Given the description of an element on the screen output the (x, y) to click on. 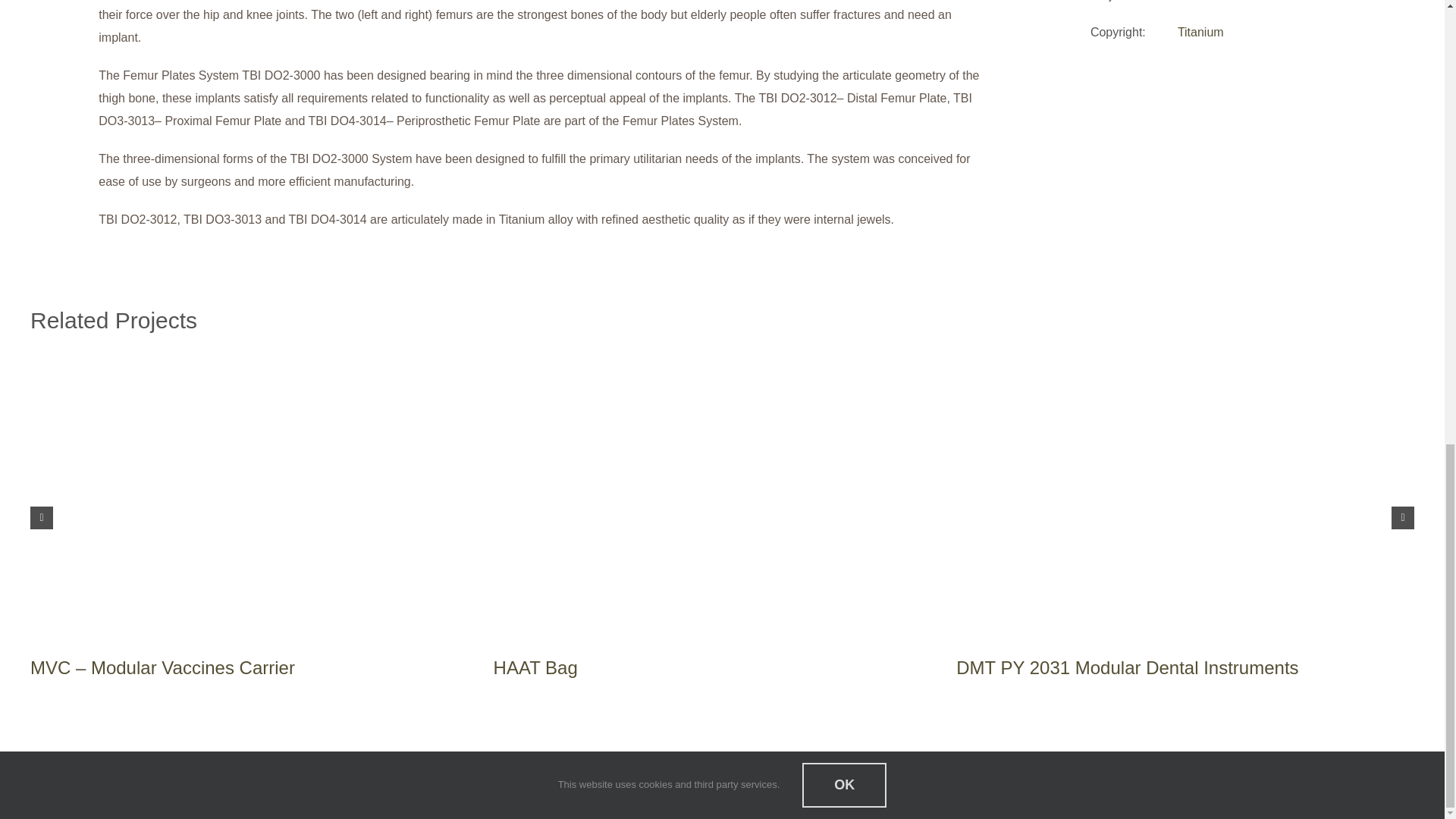
HAAT Bag (535, 667)
DMT PY 2031 Modular Dental Instruments (1127, 667)
